Given the description of an element on the screen output the (x, y) to click on. 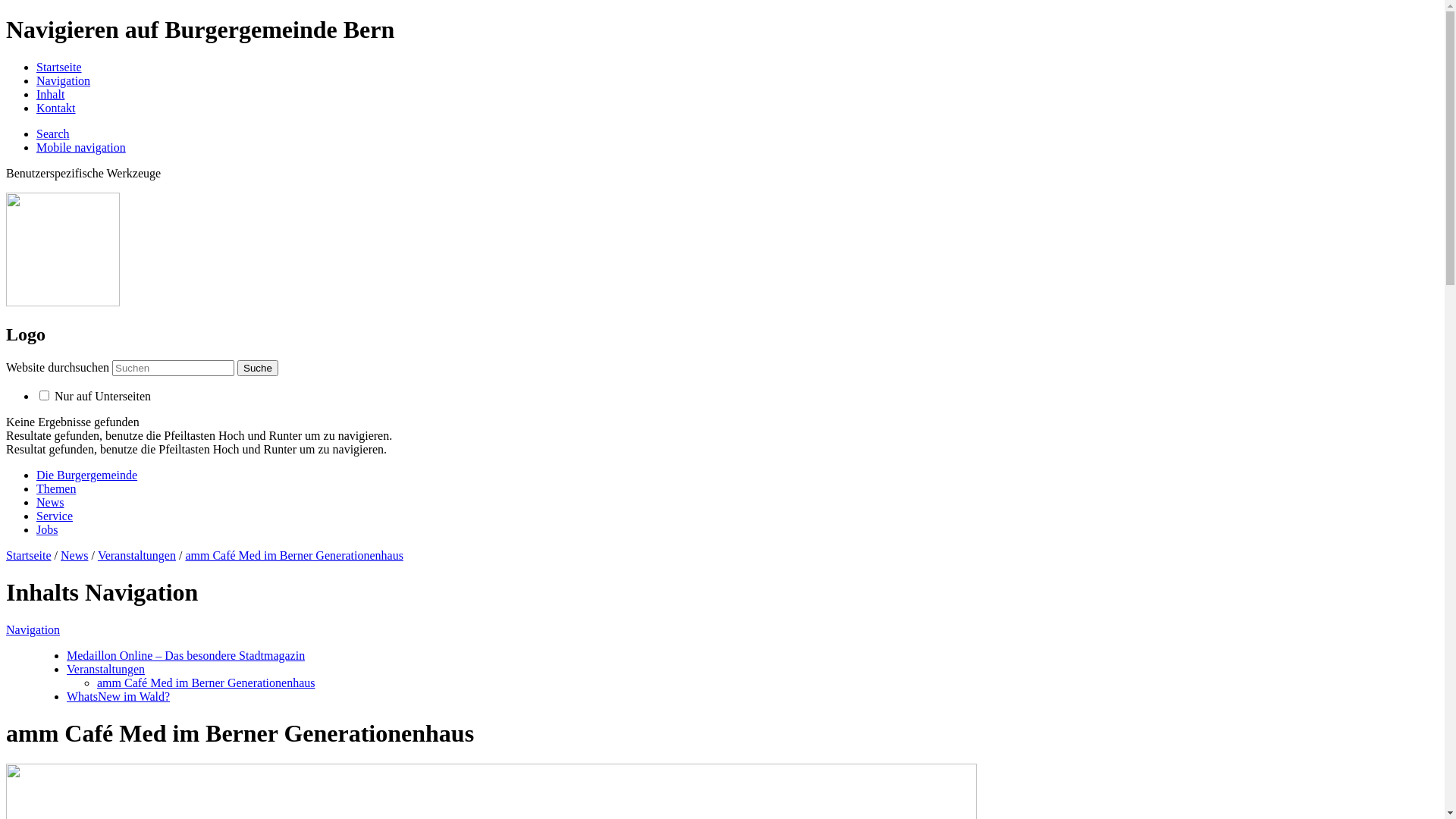
News Element type: text (73, 555)
Navigation Element type: text (32, 629)
Suchen Element type: hover (173, 368)
Navigation Element type: text (63, 80)
Jobs Element type: text (46, 529)
Suche Element type: text (257, 368)
News Element type: text (49, 501)
Mobile navigation Element type: text (80, 147)
Kontakt Element type: text (55, 107)
Veranstaltungen Element type: text (105, 668)
Burgergemeinde Bern Element type: hover (62, 301)
WhatsNew im Wald? Element type: text (117, 696)
Startseite Element type: text (28, 555)
Die Burgergemeinde Element type: text (86, 474)
Service Element type: text (54, 515)
Veranstaltungen Element type: text (136, 555)
Inhalt Element type: text (50, 93)
Themen Element type: text (55, 488)
Search Element type: text (52, 133)
Startseite Element type: text (58, 66)
